Given the description of an element on the screen output the (x, y) to click on. 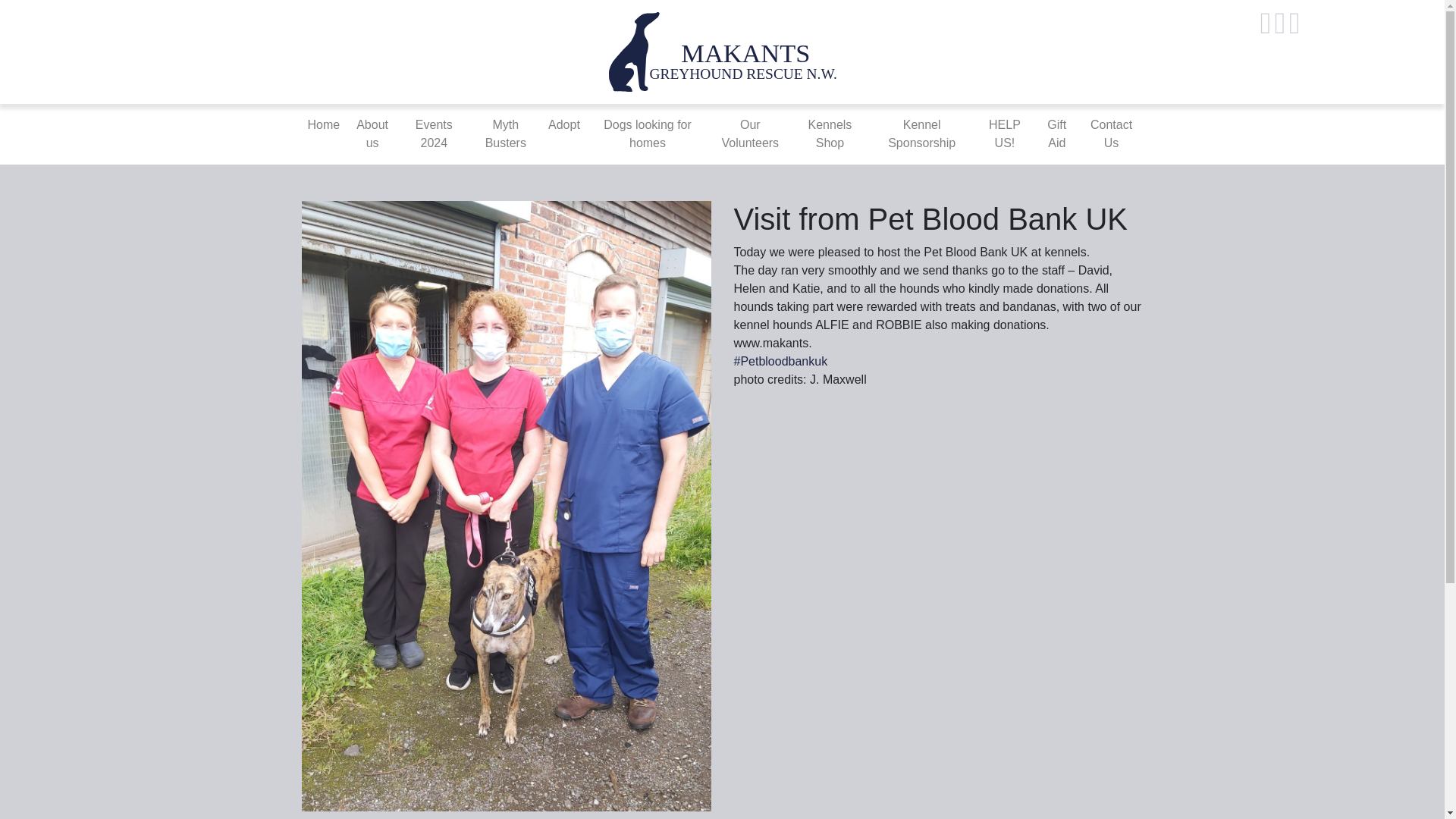
Kennel Sponsorship (920, 133)
Adopt (563, 124)
Home (323, 124)
About us (372, 133)
Our Volunteers (749, 133)
HELP US! (1004, 133)
Dogs looking for homes (647, 133)
HELP US! (1004, 133)
Dogs looking for homes (647, 133)
Contact Us (1111, 133)
